Given the description of an element on the screen output the (x, y) to click on. 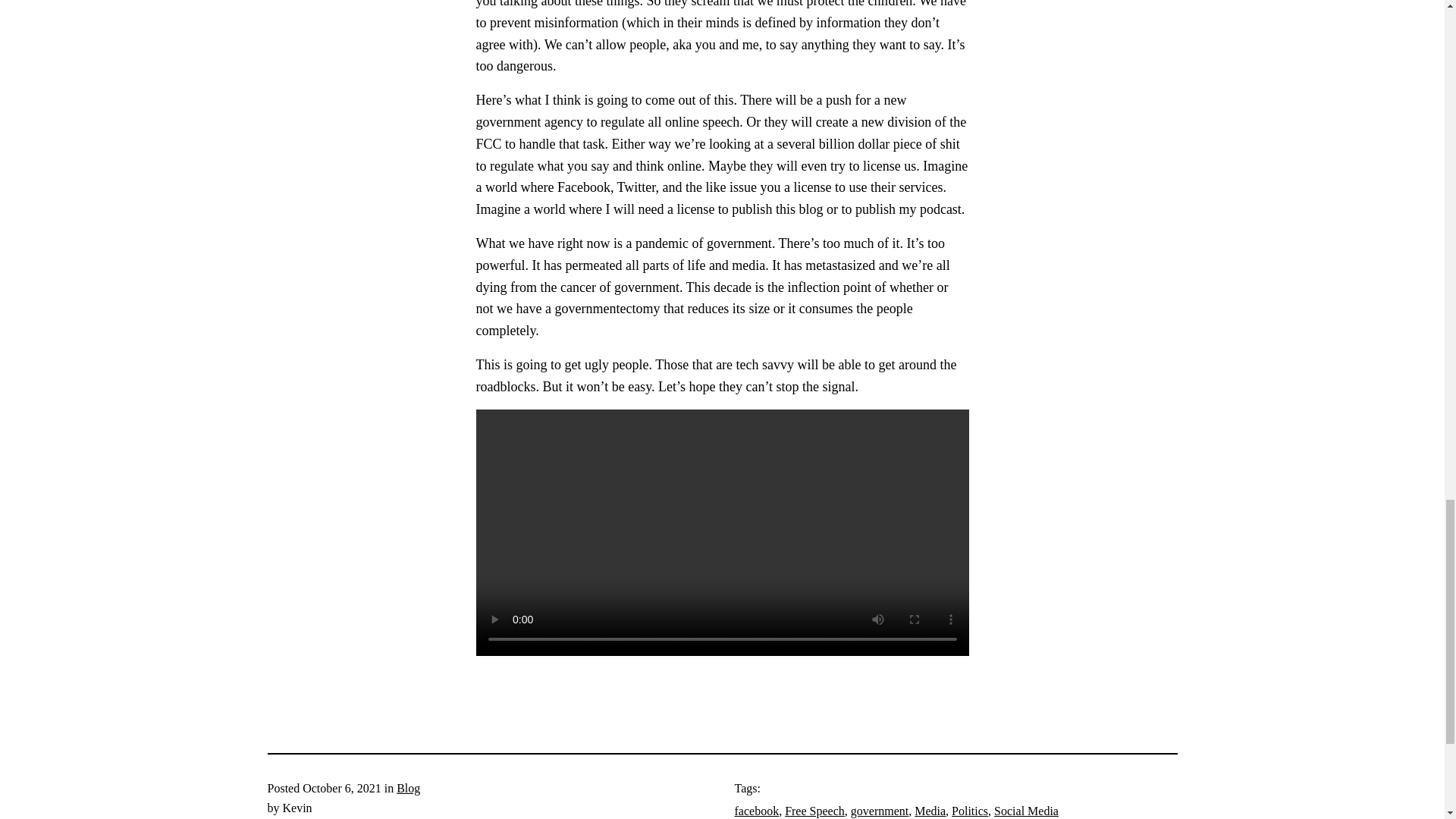
facebook (755, 810)
government (879, 810)
Politics (970, 810)
Social Media (1026, 810)
Blog (408, 788)
Media (929, 810)
Free Speech (814, 810)
